Given the description of an element on the screen output the (x, y) to click on. 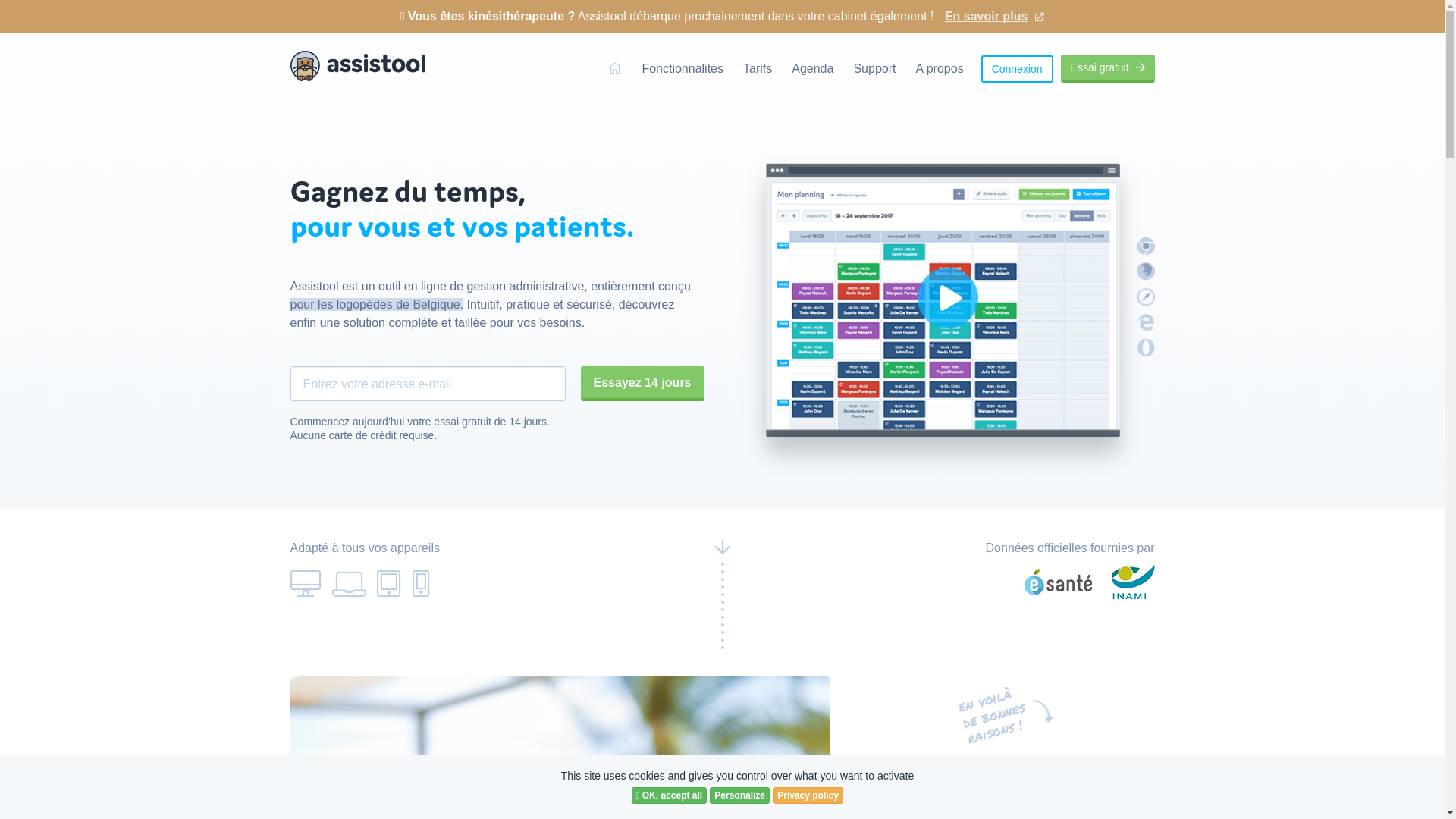
A propos Element type: text (939, 68)
Connexion Element type: text (1017, 67)
Privacy policy Element type: text (807, 795)
Tarifs Element type: text (757, 68)
Personalize Element type: text (739, 795)
Essayez 14 jours Element type: text (642, 383)
En savoir plus Element type: text (994, 9)
Essai gratuit Element type: text (1107, 68)
Agenda Element type: text (812, 68)
Support Element type: text (874, 68)
